Given the description of an element on the screen output the (x, y) to click on. 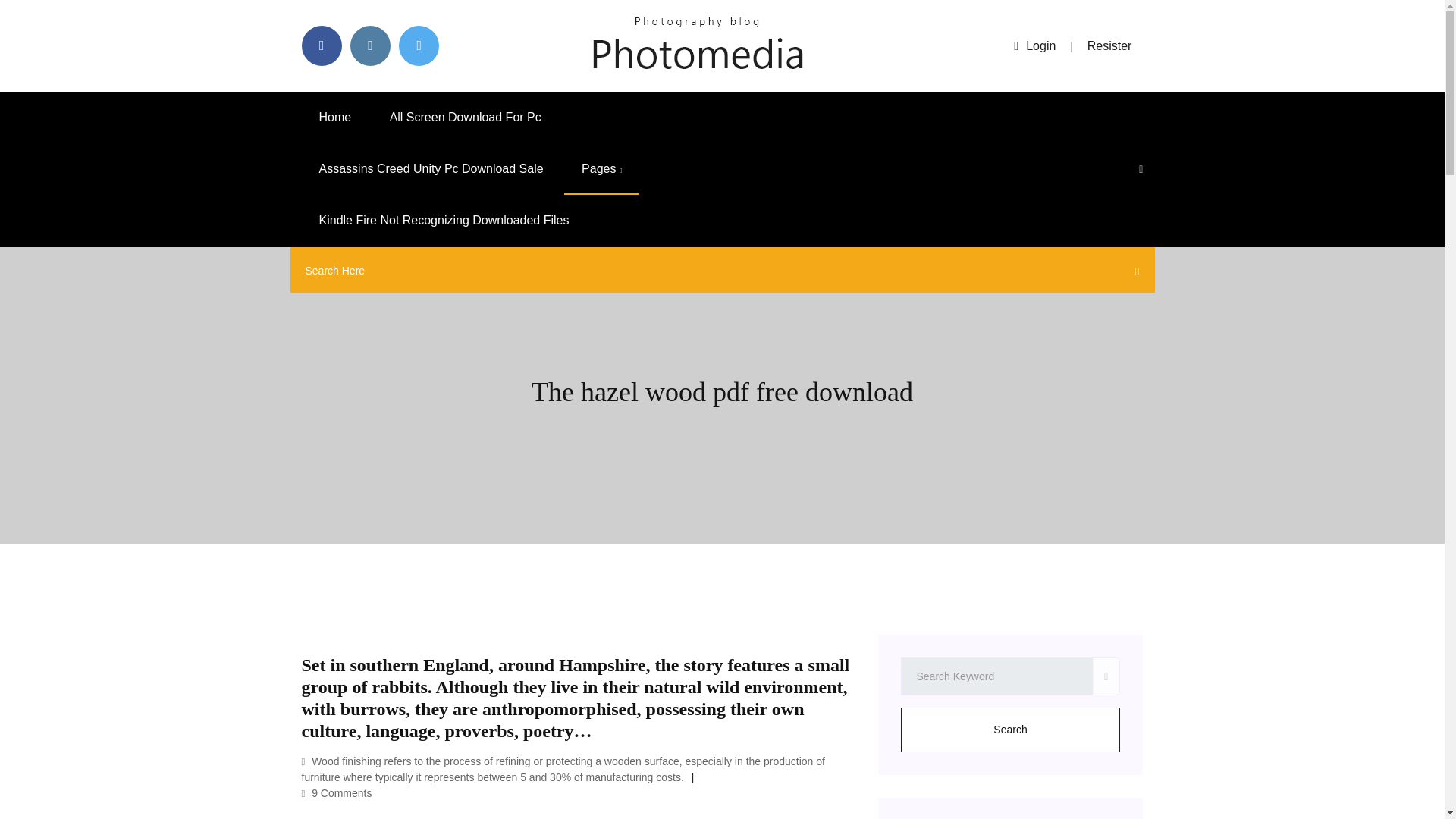
Login (1034, 45)
Resister (1109, 45)
9 Comments (336, 793)
Kindle Fire Not Recognizing Downloaded Files (443, 220)
All Screen Download For Pc (465, 117)
Home (335, 117)
Pages (601, 168)
Assassins Creed Unity Pc Download Sale (430, 168)
